Given the description of an element on the screen output the (x, y) to click on. 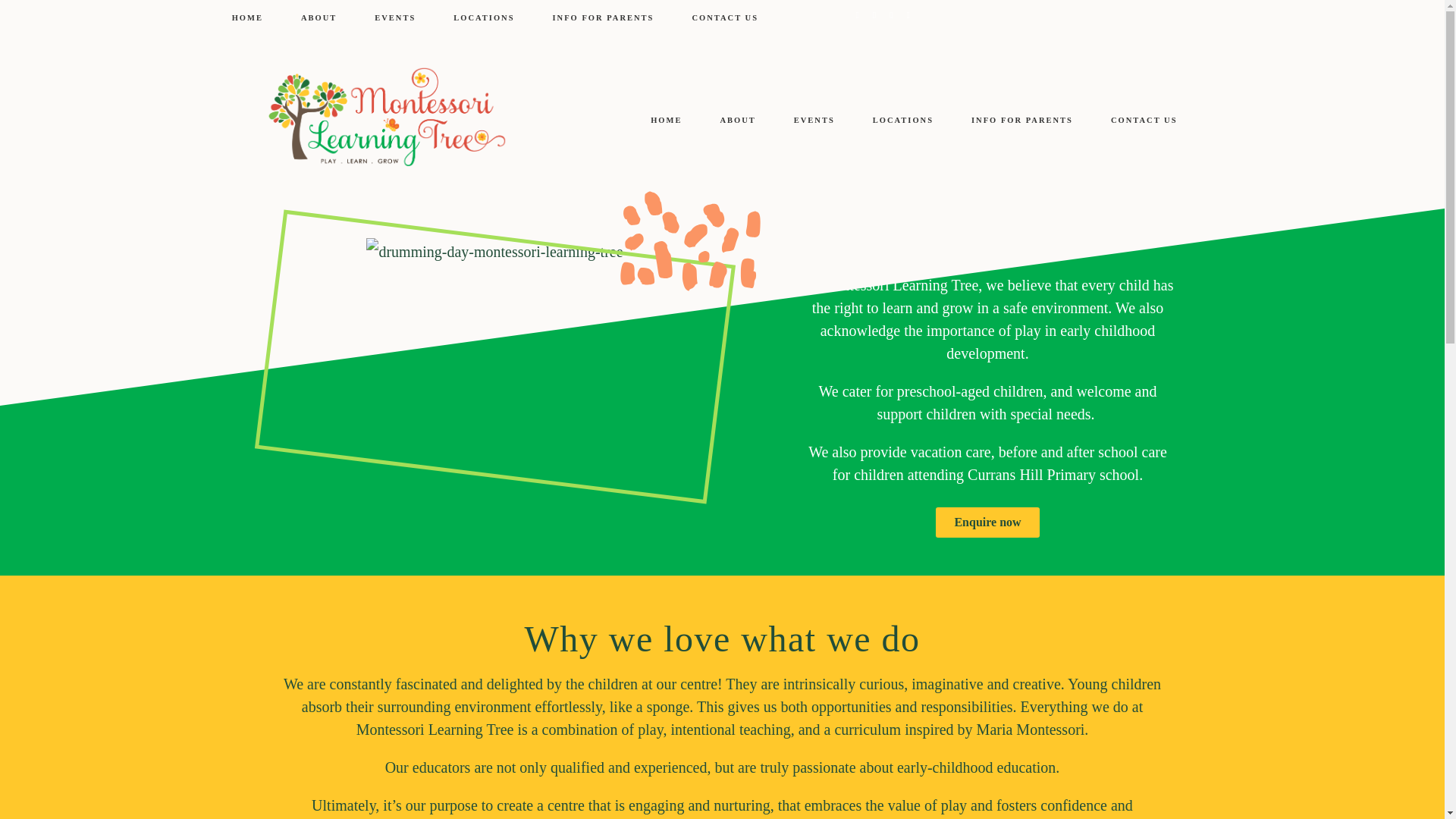
INFO FOR PARENTS (1022, 119)
HOME (665, 119)
HOME (247, 17)
CONTACT US (724, 17)
LOCATIONS (482, 17)
ABOUT (737, 119)
EVENTS (394, 17)
ABOUT (318, 17)
EVENTS (813, 119)
LOCATIONS (902, 119)
